Given the description of an element on the screen output the (x, y) to click on. 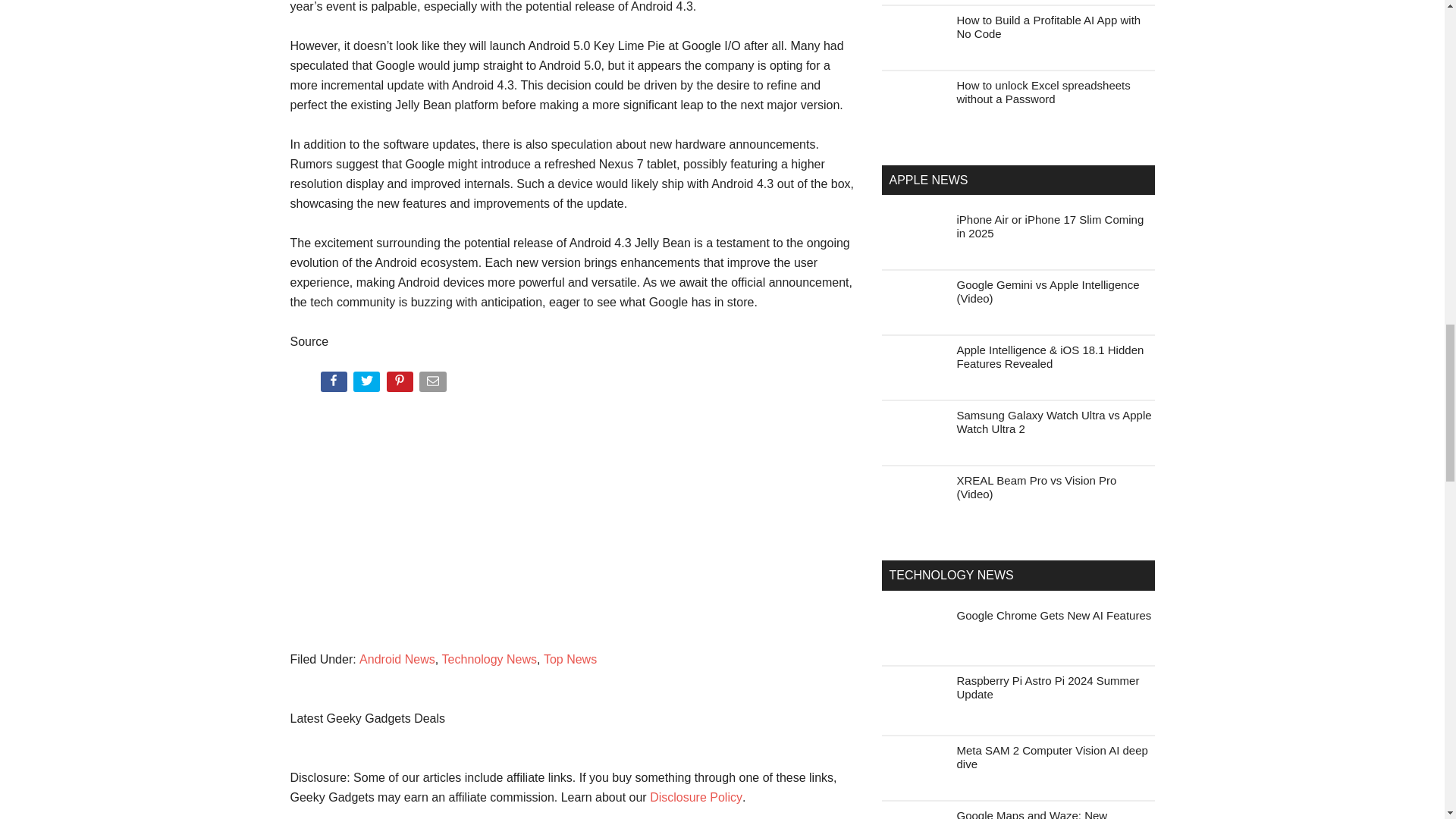
Disclosure Policy (695, 797)
Share on Facebook (334, 384)
Email (433, 384)
Pin (401, 384)
Technology News (489, 658)
Top News (569, 658)
Tweet (367, 384)
Android News (397, 658)
